Given the description of an element on the screen output the (x, y) to click on. 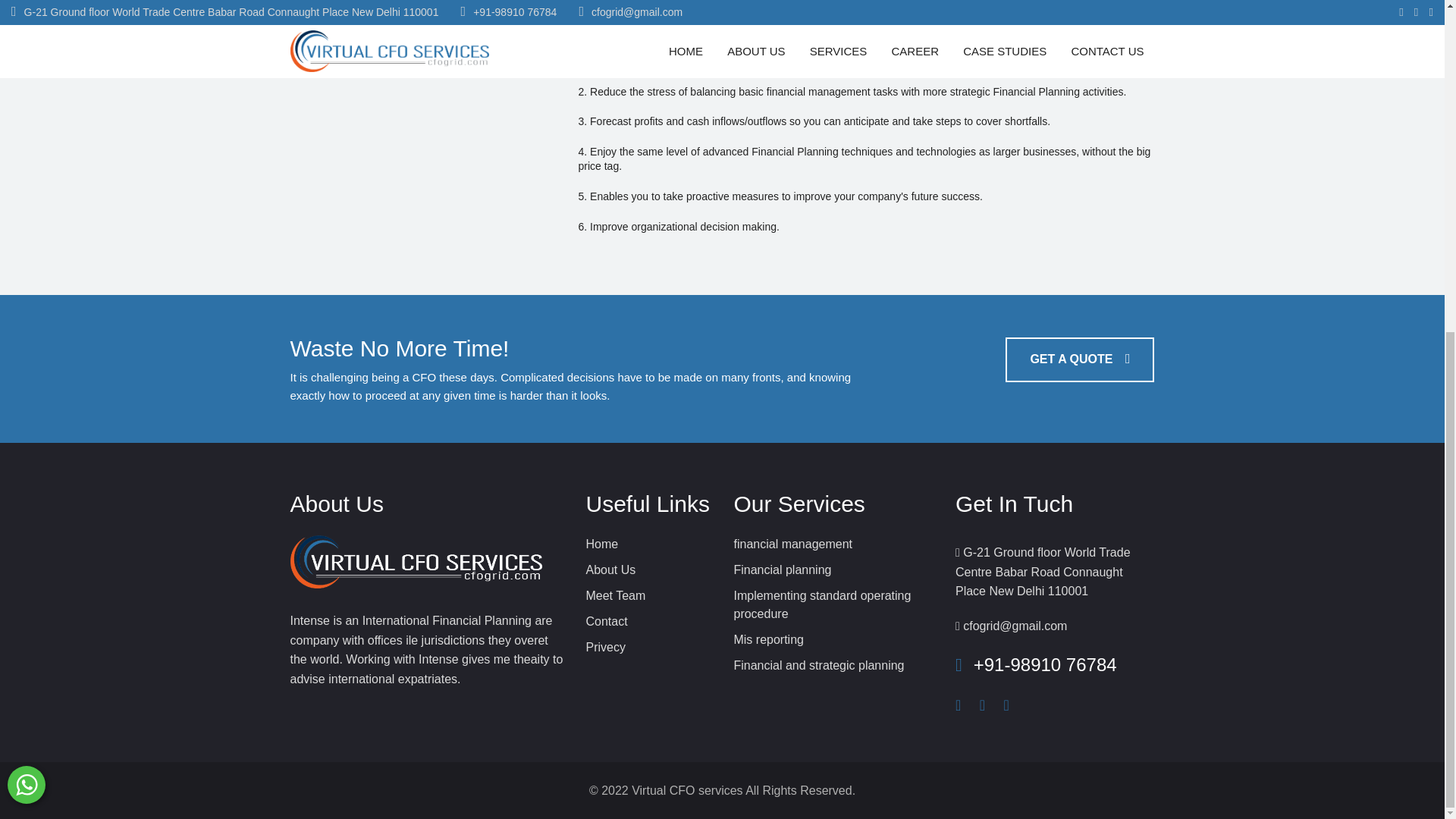
Submit (350, 18)
Home (601, 543)
GET A QUOTE (1080, 359)
